Given the description of an element on the screen output the (x, y) to click on. 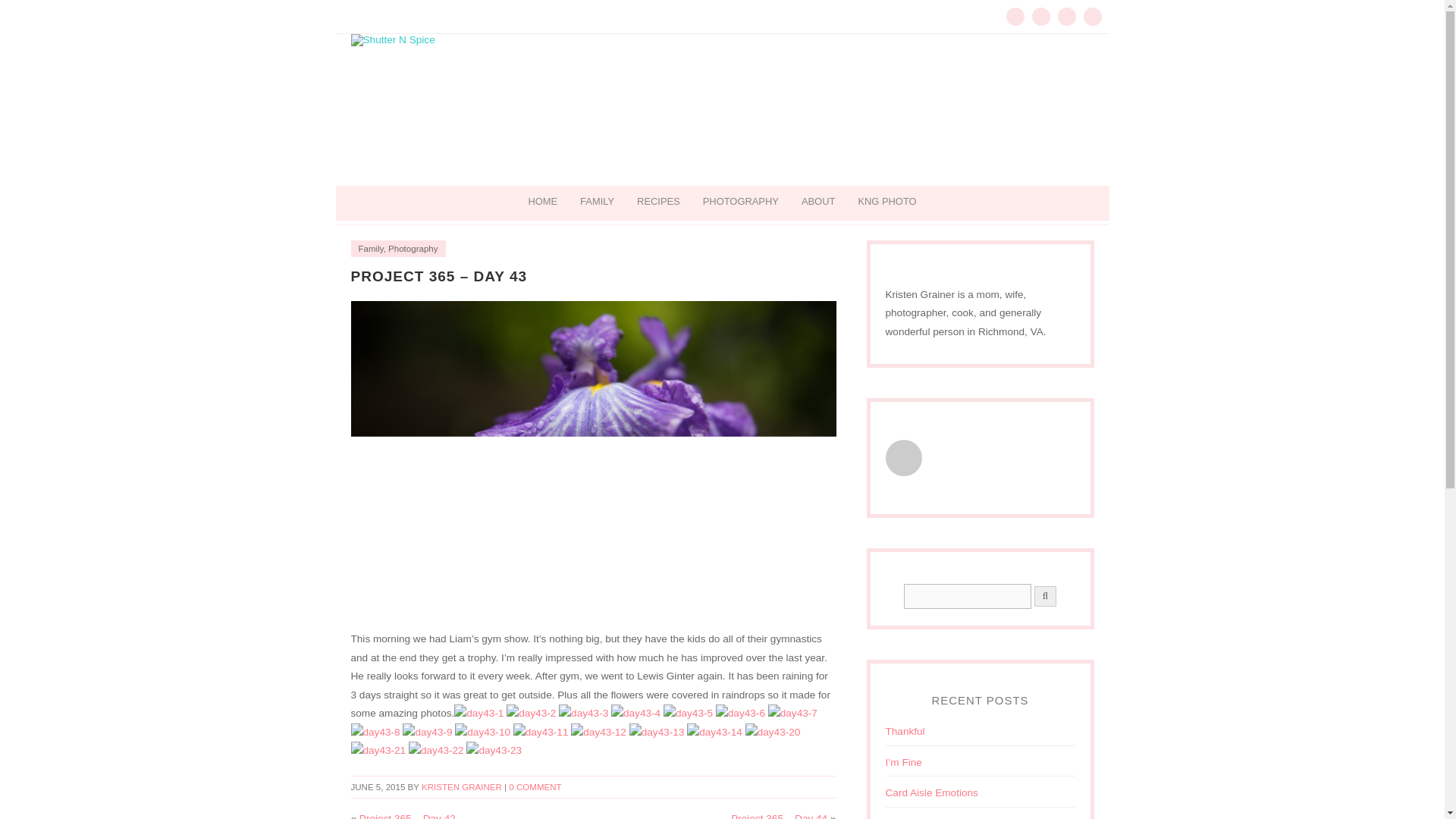
FAMILY (597, 201)
Flickr (1091, 16)
Shutter N Spice (721, 109)
KNG PHOTO (886, 201)
Photography (413, 248)
Pinterest (1039, 16)
KRISTEN GRAINER (462, 786)
RECIPES (658, 201)
Family (370, 248)
HOME (542, 201)
ABOUT (817, 201)
PHOTOGRAPHY (740, 201)
Instagram (1066, 16)
Search (967, 596)
0 COMMENT (534, 786)
